Given the description of an element on the screen output the (x, y) to click on. 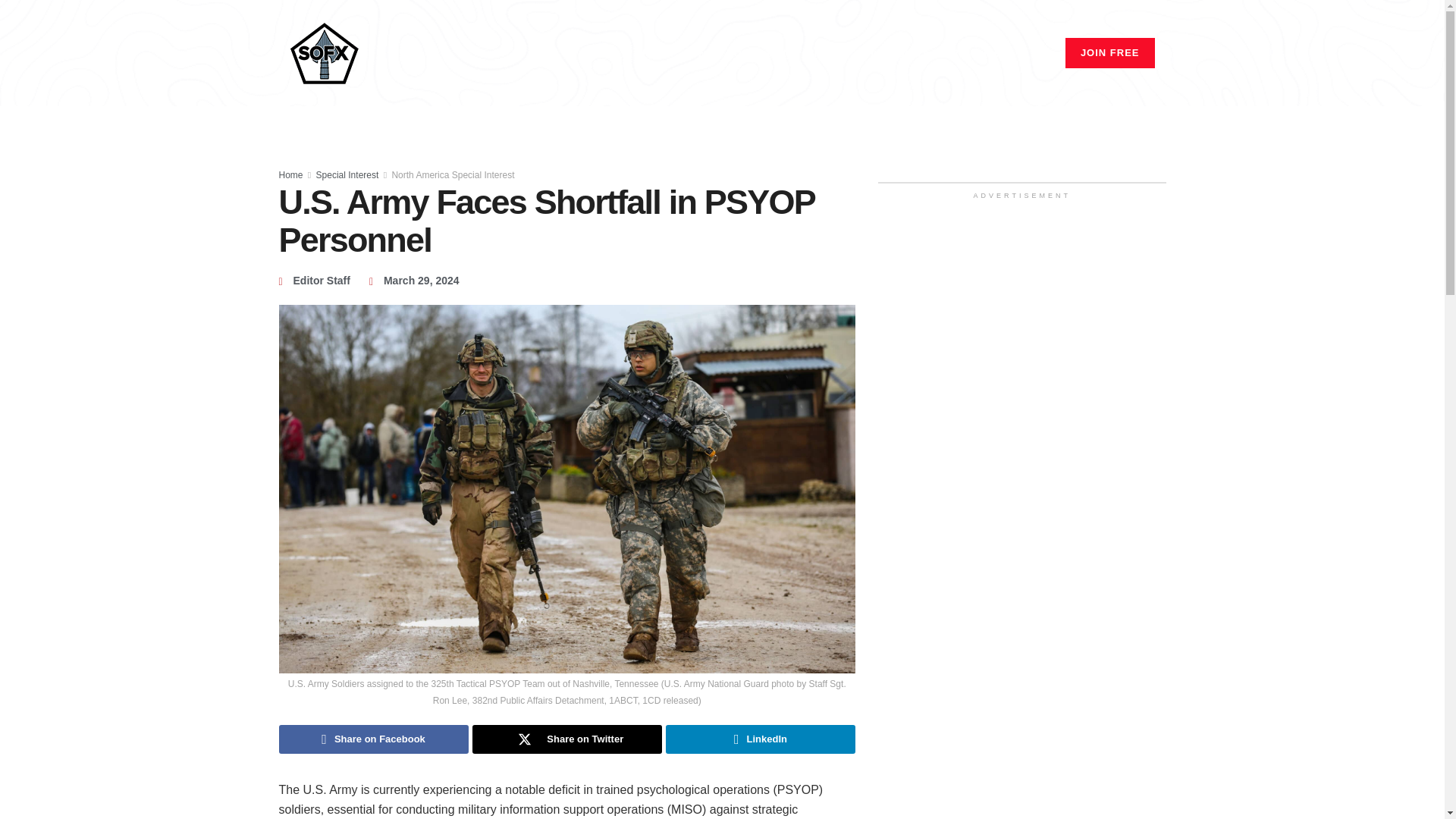
Resources (980, 52)
Home (651, 52)
Community (765, 52)
News (700, 52)
Market (833, 52)
Intelligence (902, 52)
